Given the description of an element on the screen output the (x, y) to click on. 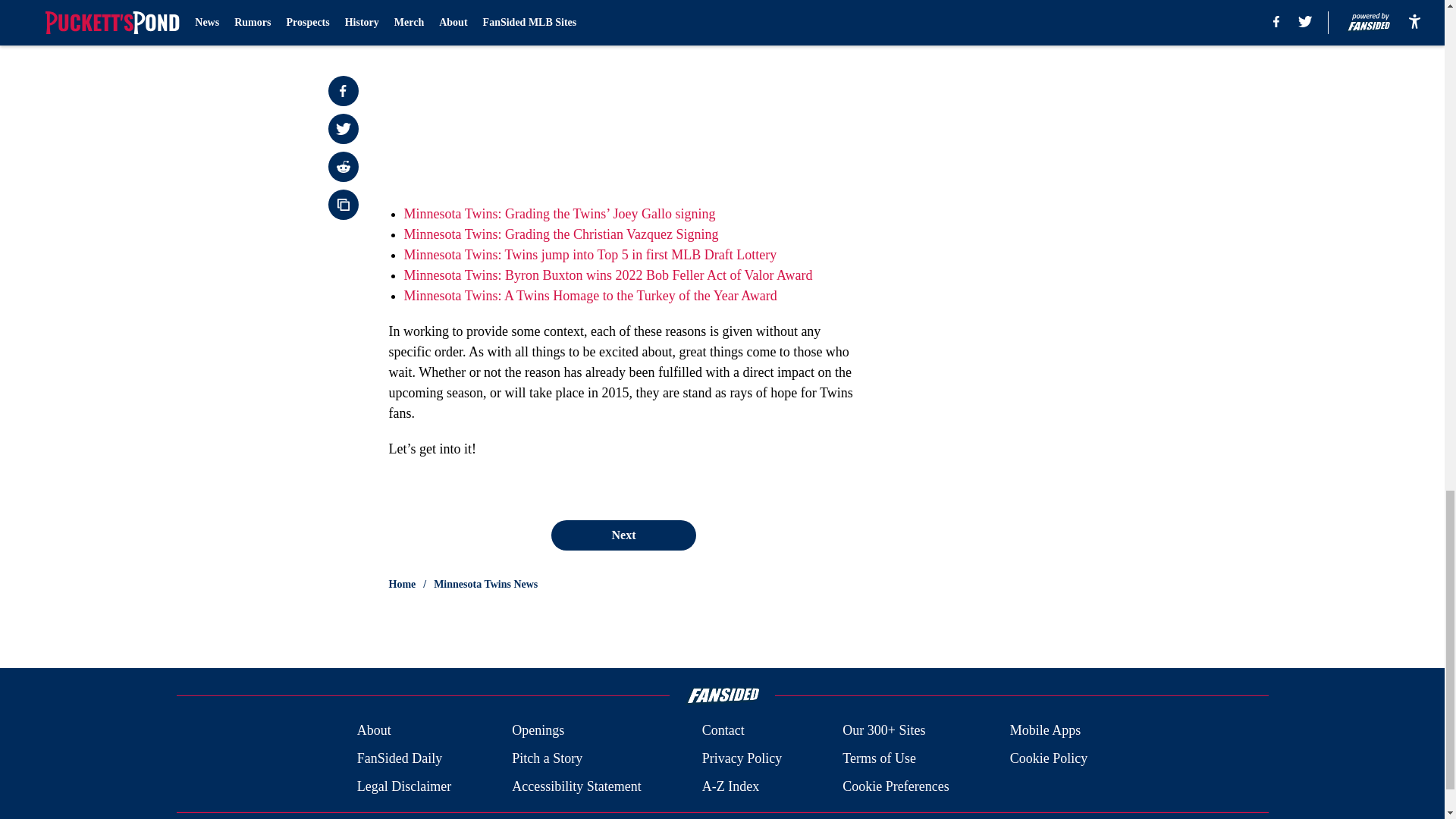
Home (401, 584)
Mobile Apps (1045, 730)
About (373, 730)
Contact (722, 730)
Next (622, 535)
Minnesota Twins: Grading the Christian Vazquez Signing (560, 233)
Openings (538, 730)
